Given the description of an element on the screen output the (x, y) to click on. 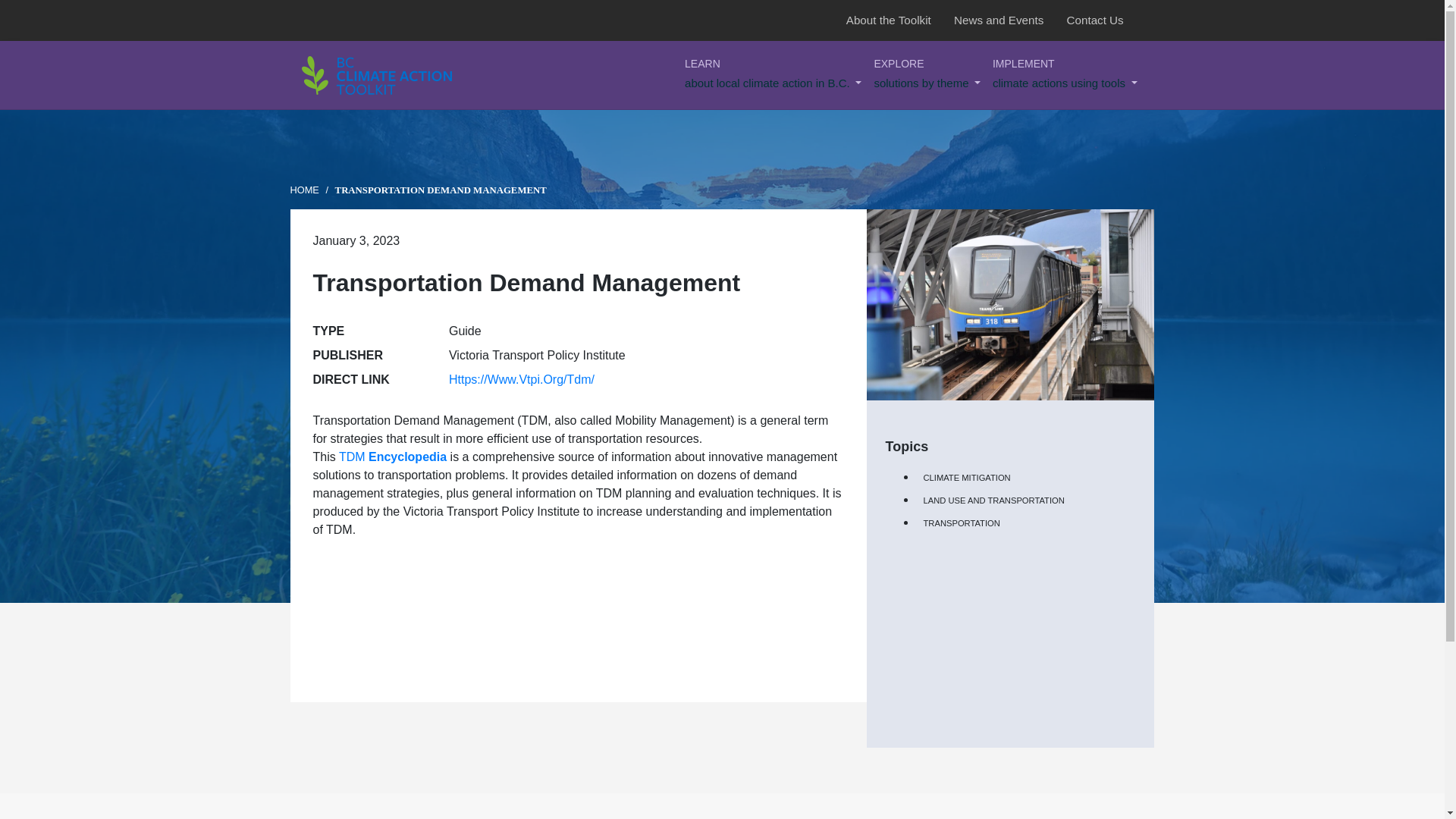
EXPLORE solutions by theme  (1064, 74)
News and Events (927, 74)
TDM Encyclopedia (1007, 19)
Contact Us (392, 456)
About the Toolkit (1104, 19)
LEARN about local climate action in B.C.   (897, 19)
IMPLEMENT  climate actions using tools  (772, 74)
HOME (927, 74)
